Given the description of an element on the screen output the (x, y) to click on. 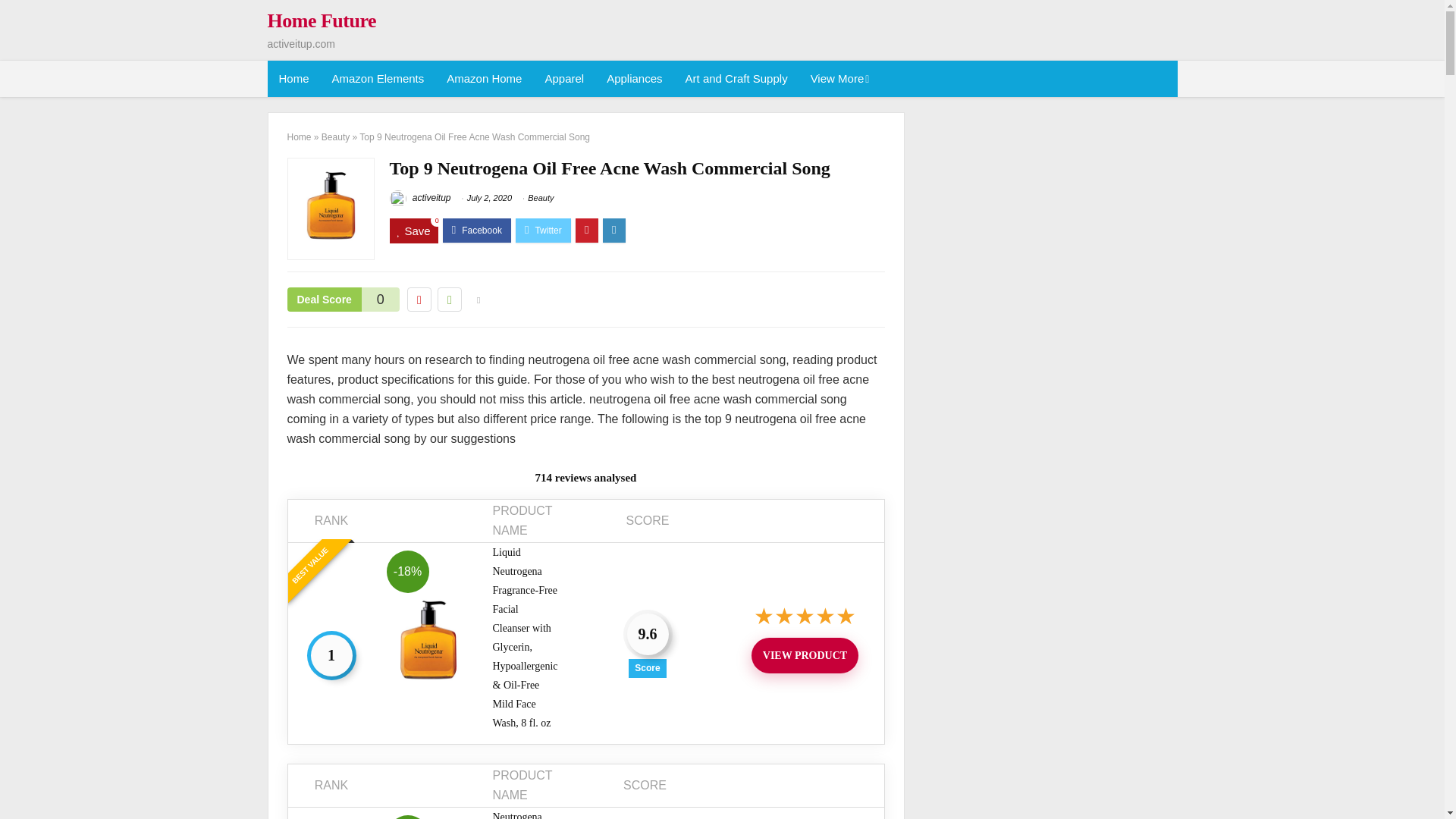
Vote down (418, 299)
View More (838, 78)
Amazon Elements (377, 78)
Home (293, 78)
Appliances (633, 78)
View all posts in Beauty (540, 197)
Art and Craft Supply (736, 78)
Apparel (563, 78)
Amazon Home (483, 78)
